Given the description of an element on the screen output the (x, y) to click on. 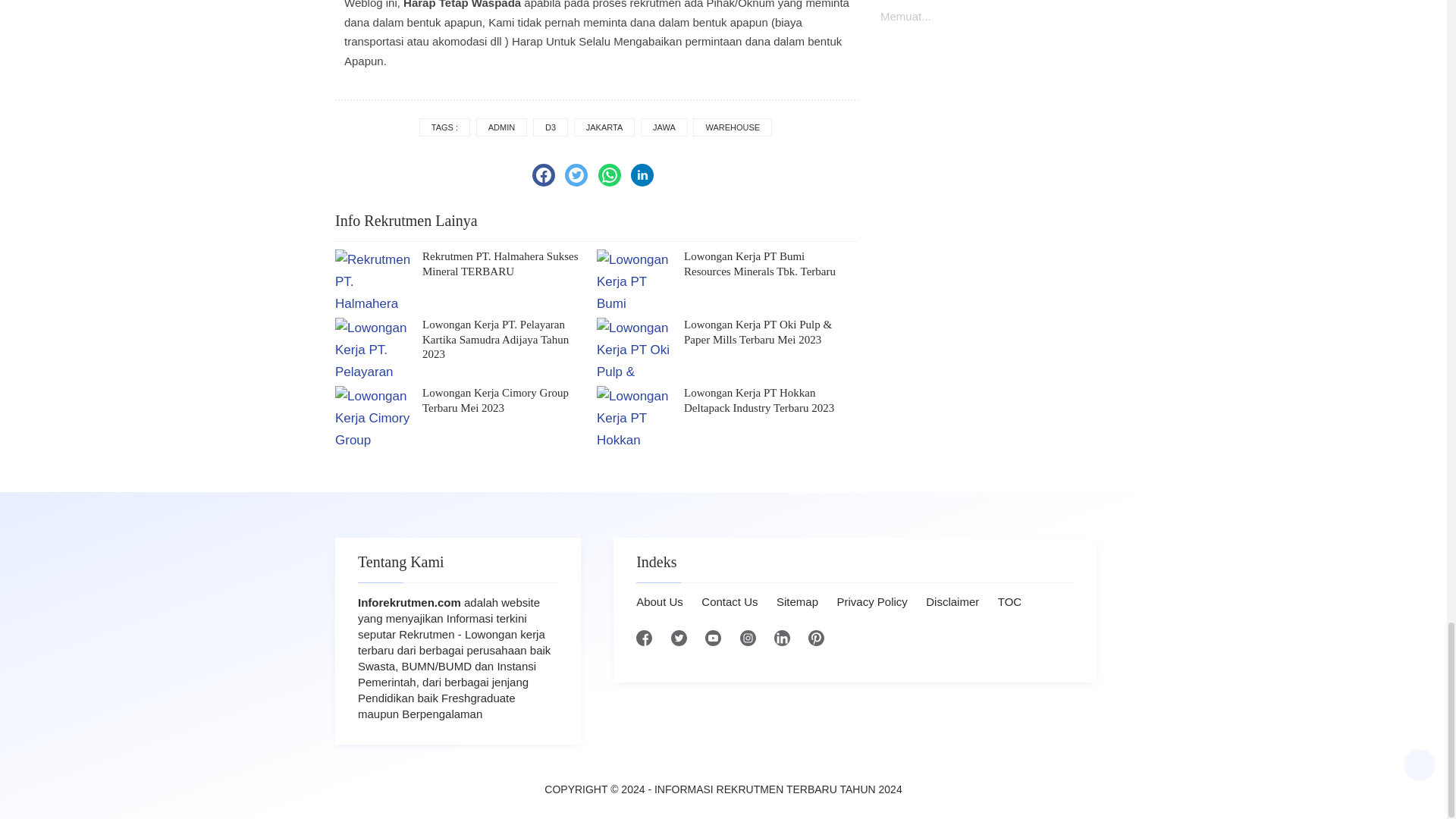
ADMIN (501, 126)
twitter (576, 174)
Linkedin (641, 174)
facebook (543, 174)
JAKARTA (603, 126)
JAWA (663, 126)
Rekrutmen PT. Halmahera Sukses Mineral TERBARU (509, 264)
WAREHOUSE (732, 126)
whatsapp (609, 174)
Lowongan Kerja PT Bumi Resources Minerals Tbk. Terbaru (771, 264)
D3 (549, 126)
